Given the description of an element on the screen output the (x, y) to click on. 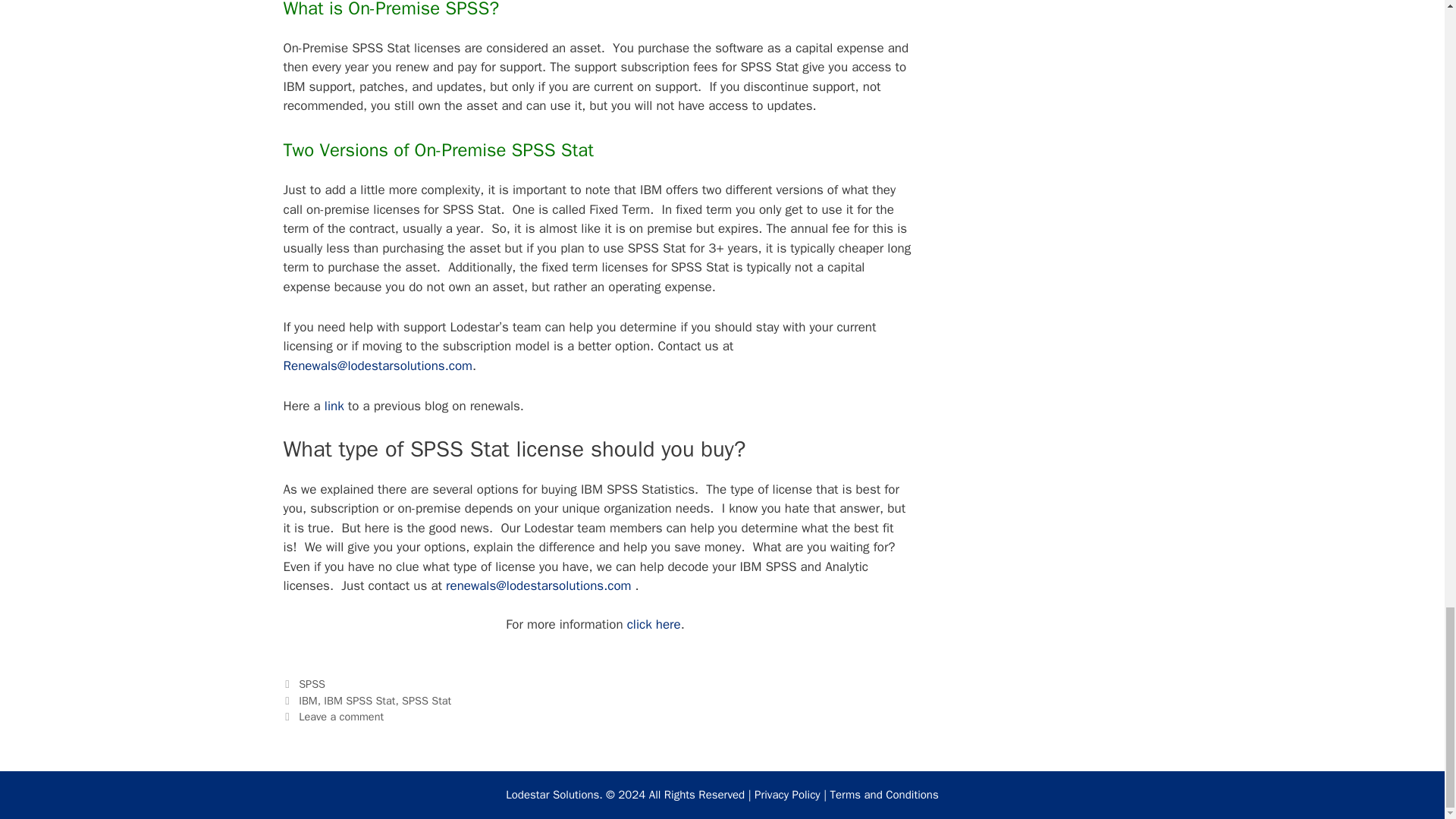
link (333, 406)
SPSS (311, 684)
IBM (307, 700)
IBM SPSS Stat (358, 700)
click here (654, 624)
